Given the description of an element on the screen output the (x, y) to click on. 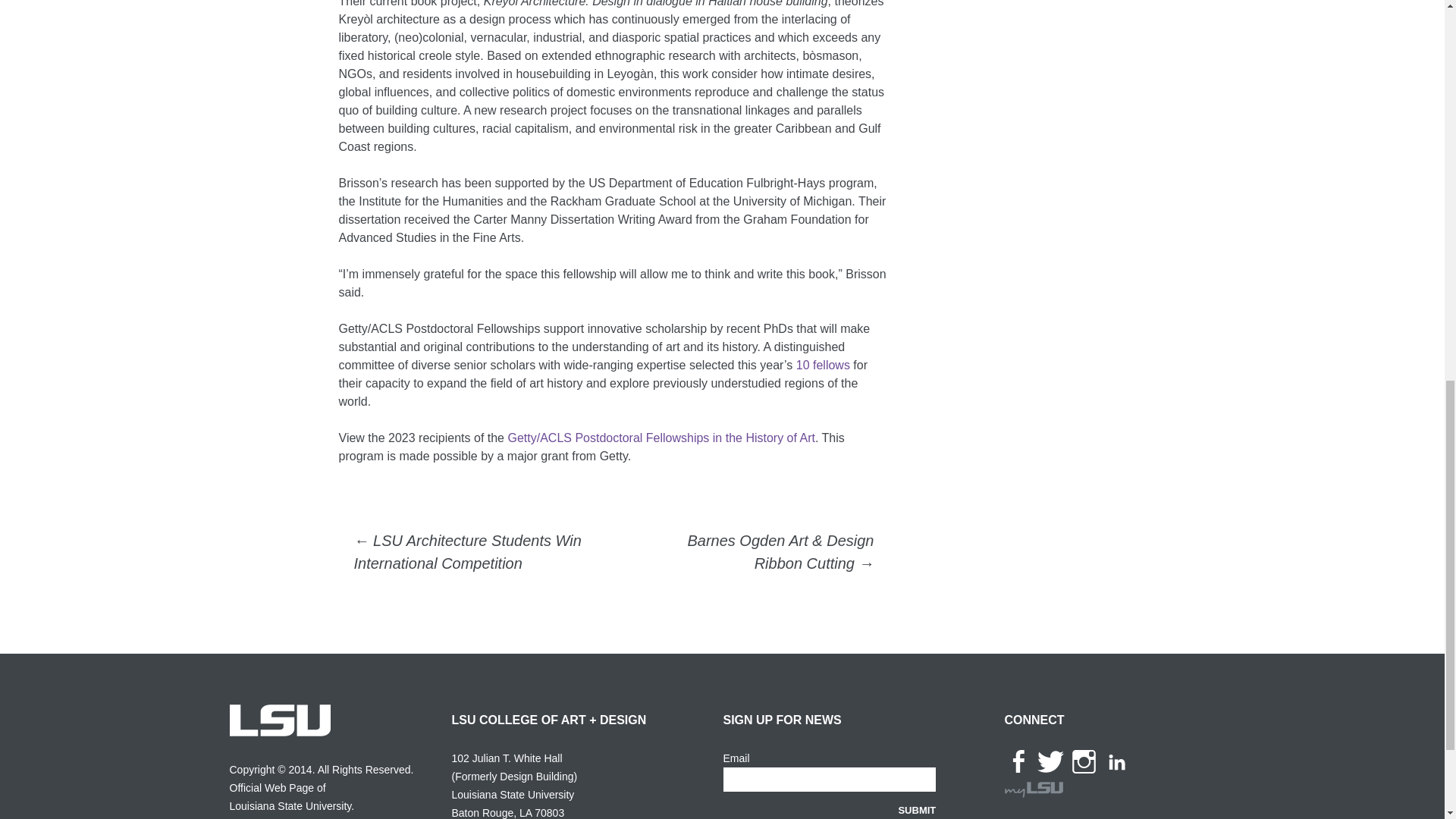
Submit (917, 809)
